Given the description of an element on the screen output the (x, y) to click on. 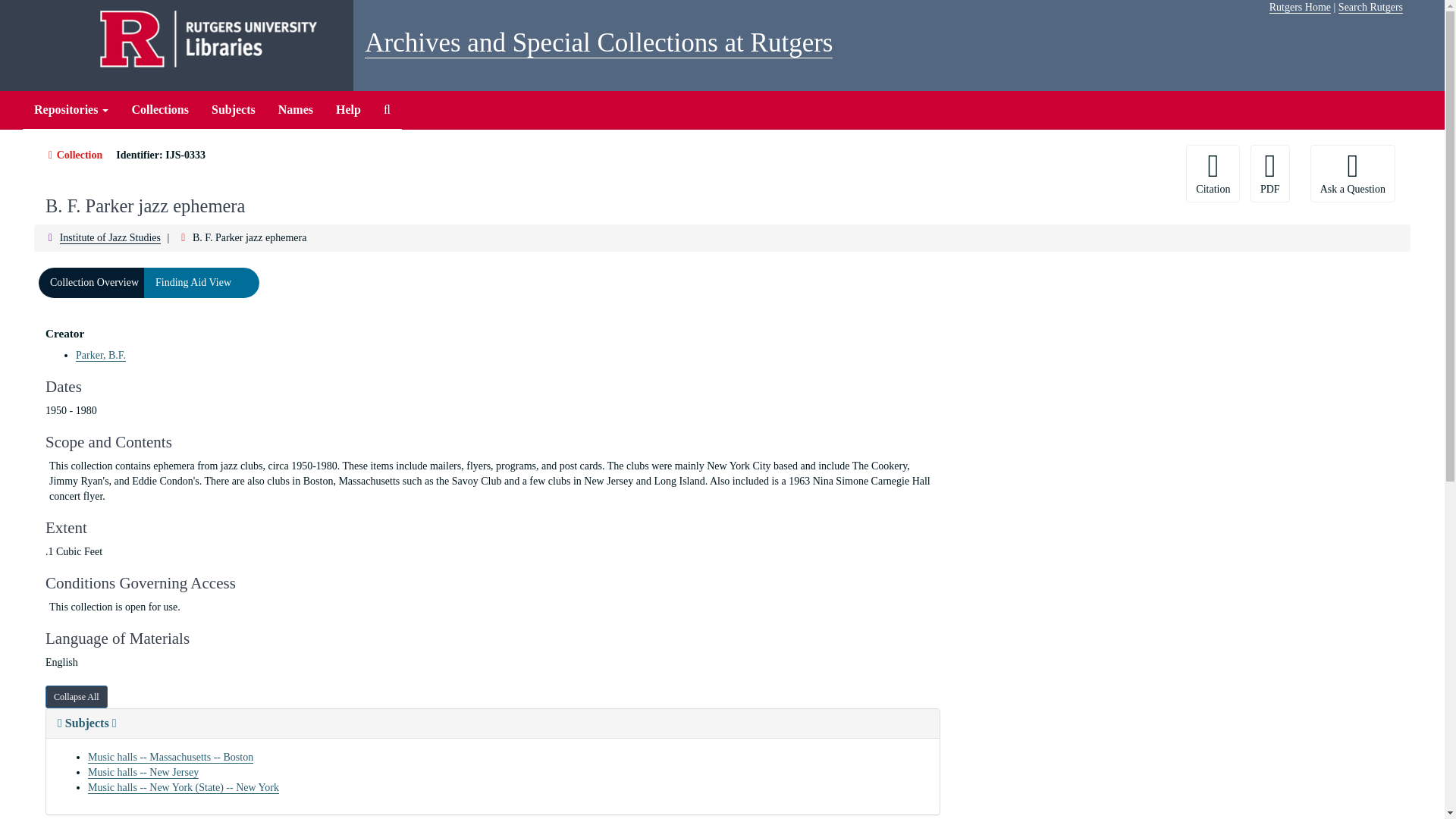
Collapse All (76, 696)
Citation (1213, 173)
Finding Aid View (193, 282)
Institute of Jazz Studies (109, 237)
l (247, 282)
Subjects (493, 723)
Collection Overview (94, 282)
Names (295, 109)
Search The Archives (386, 109)
Archives and Special Collections at Rutgers (598, 42)
Parker, B.F. (100, 355)
Repositories (71, 109)
Ask a Question (1352, 173)
Rutgers Home (1299, 7)
Music halls -- New Jersey (142, 772)
